Given the description of an element on the screen output the (x, y) to click on. 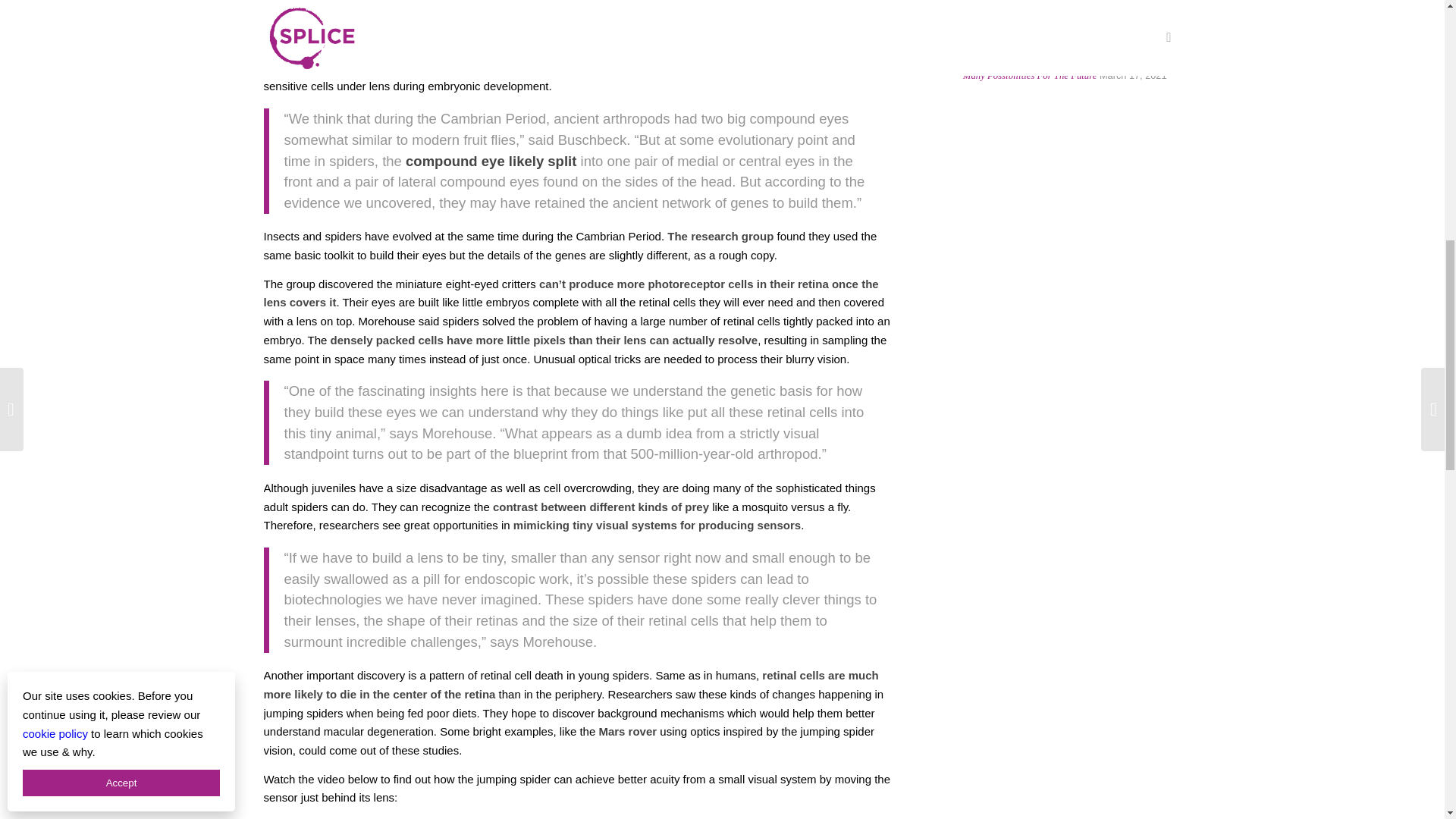
multiple eyes (538, 48)
larger project recently published (783, 10)
The research group (719, 236)
SICB Conference (499, 10)
Mars rover (627, 730)
